Given the description of an element on the screen output the (x, y) to click on. 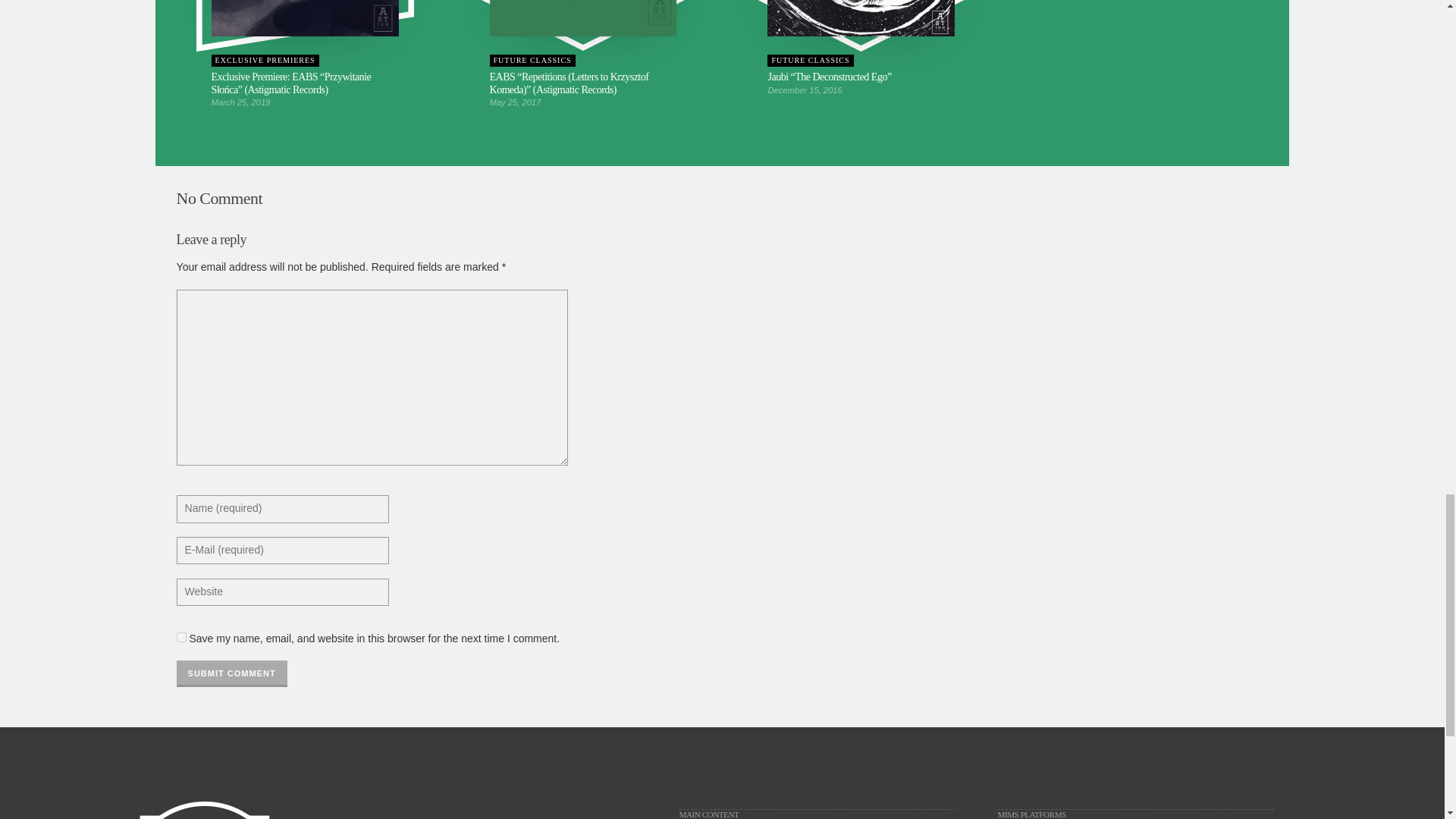
Submit comment (231, 673)
yes (181, 637)
